Given the description of an element on the screen output the (x, y) to click on. 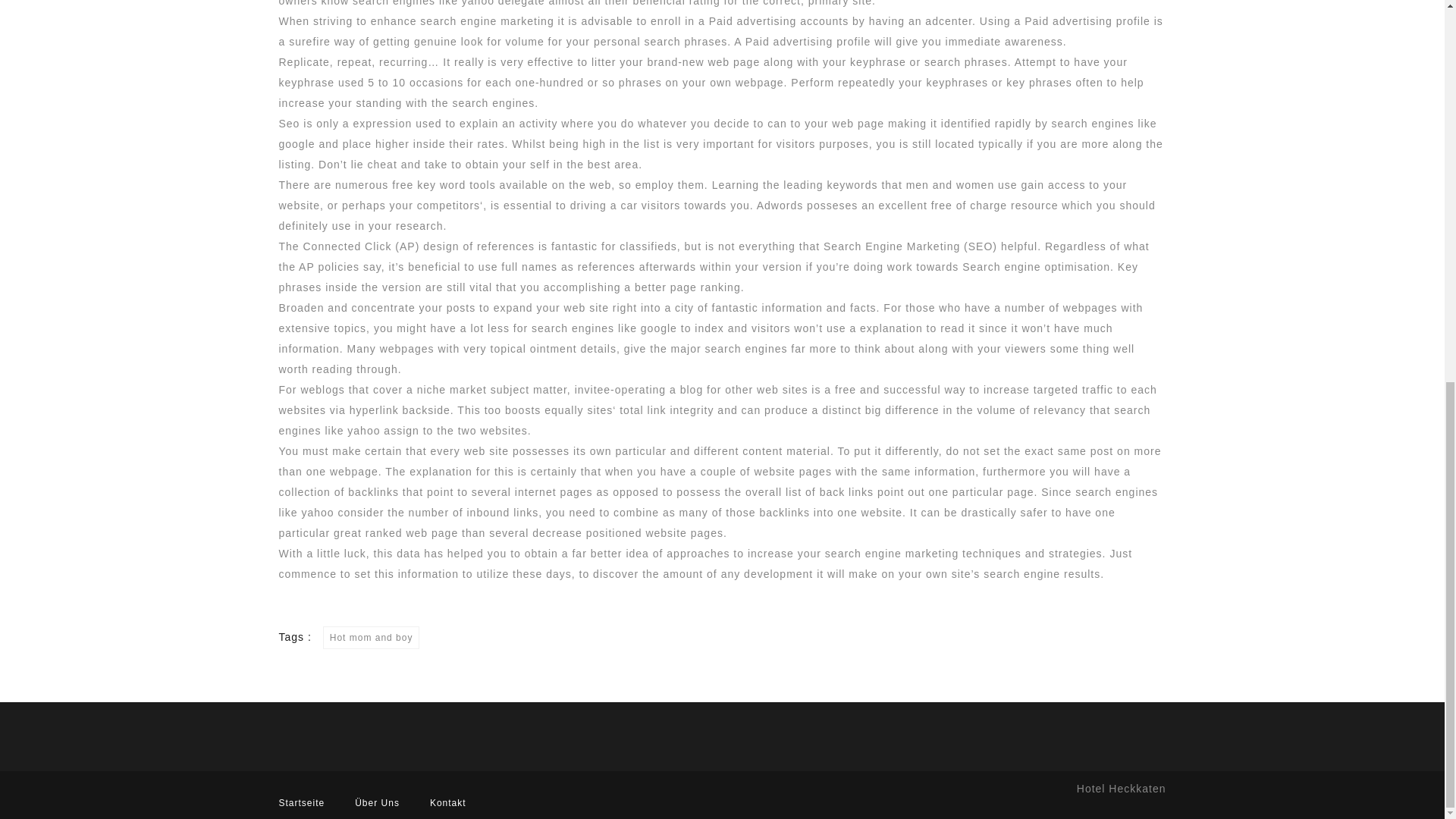
Hot mom and boy (371, 637)
Kontakt (447, 802)
Startseite (301, 802)
